Given the description of an element on the screen output the (x, y) to click on. 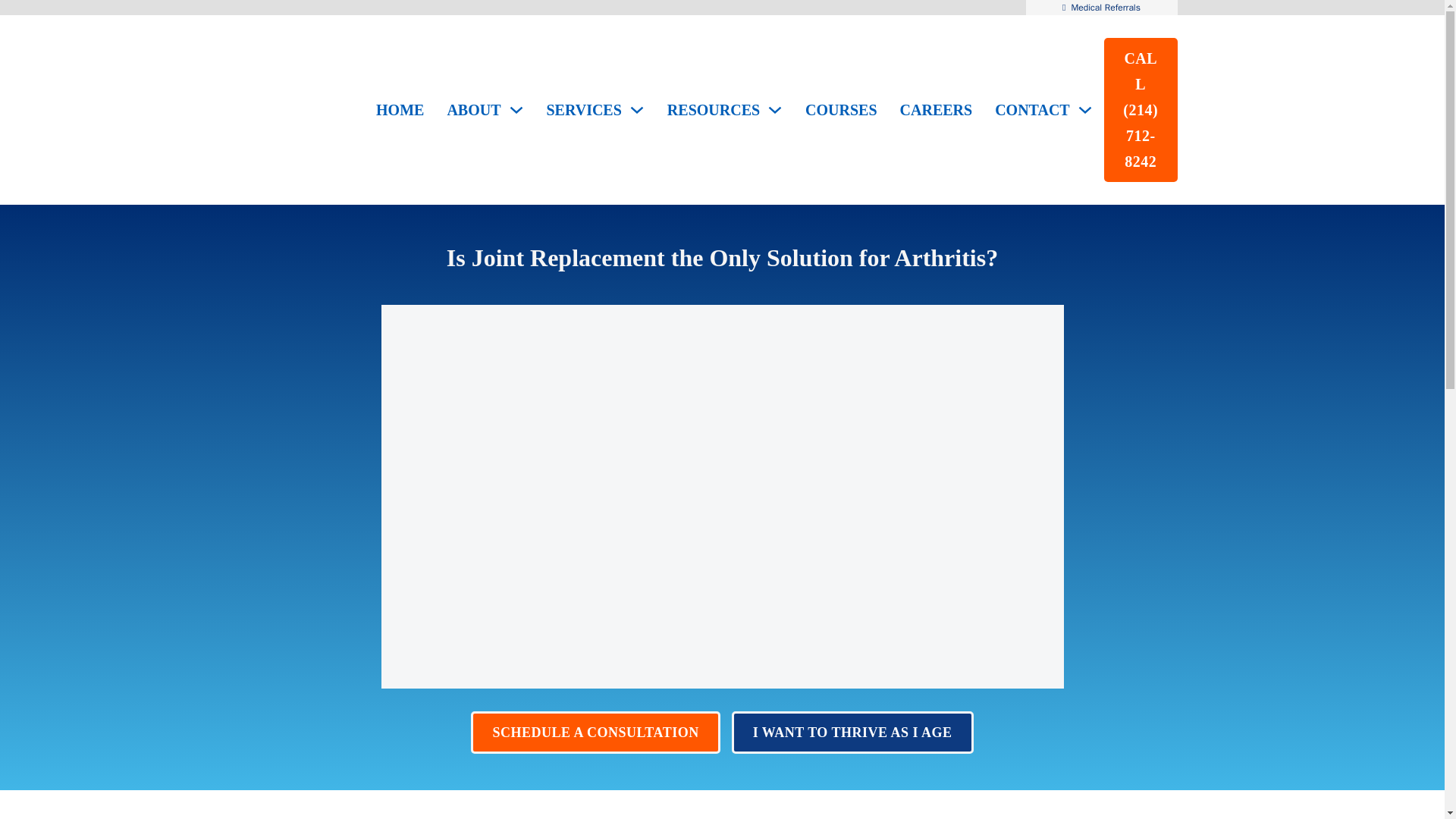
Medical Referrals (1105, 7)
COURSES (840, 109)
CAREERS (935, 109)
HOME (399, 109)
SERVICES (583, 109)
ABOUT (473, 109)
RESOURCES (713, 109)
CONTACT (1032, 109)
